Given the description of an element on the screen output the (x, y) to click on. 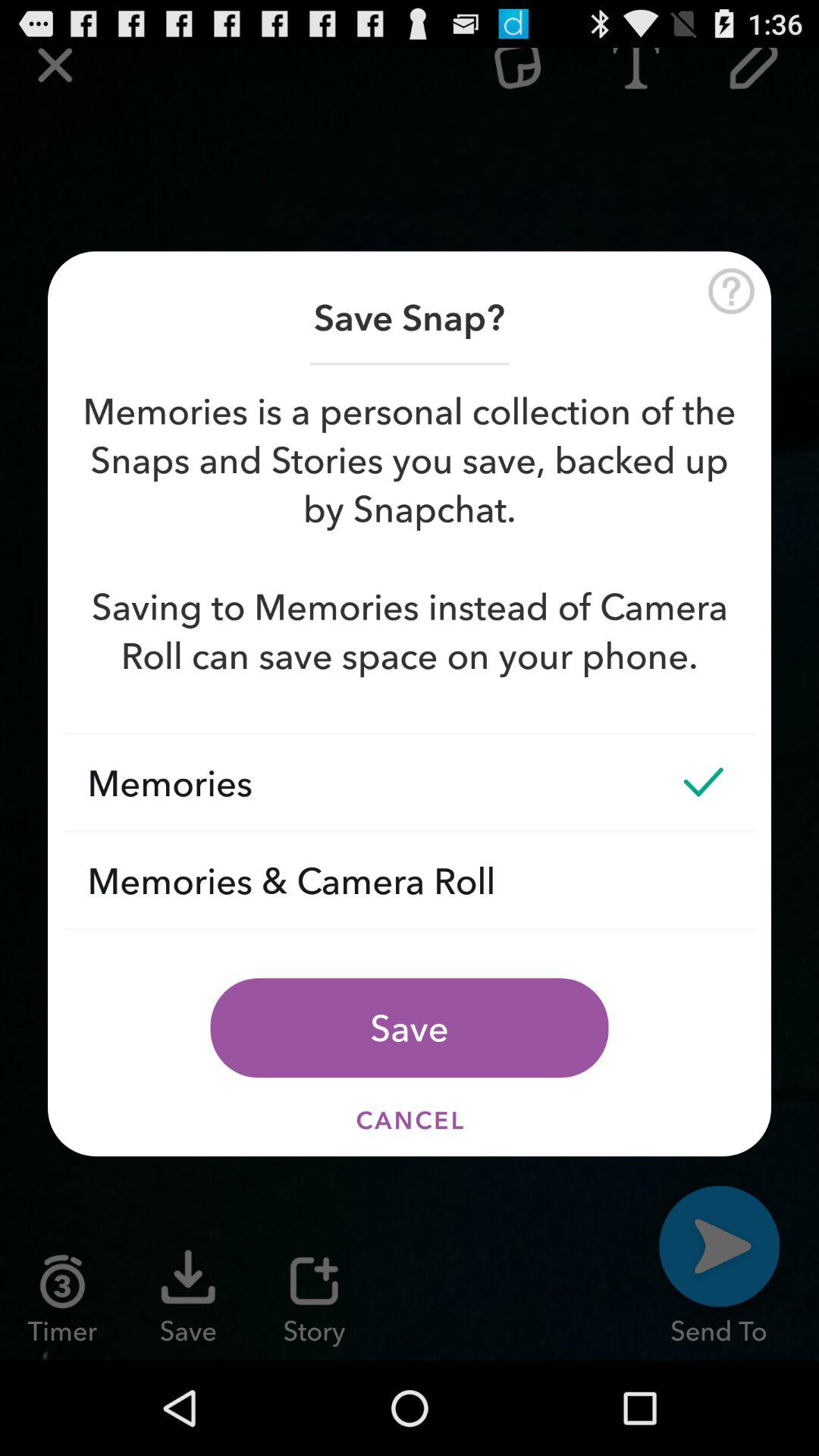
help button (731, 291)
